Given the description of an element on the screen output the (x, y) to click on. 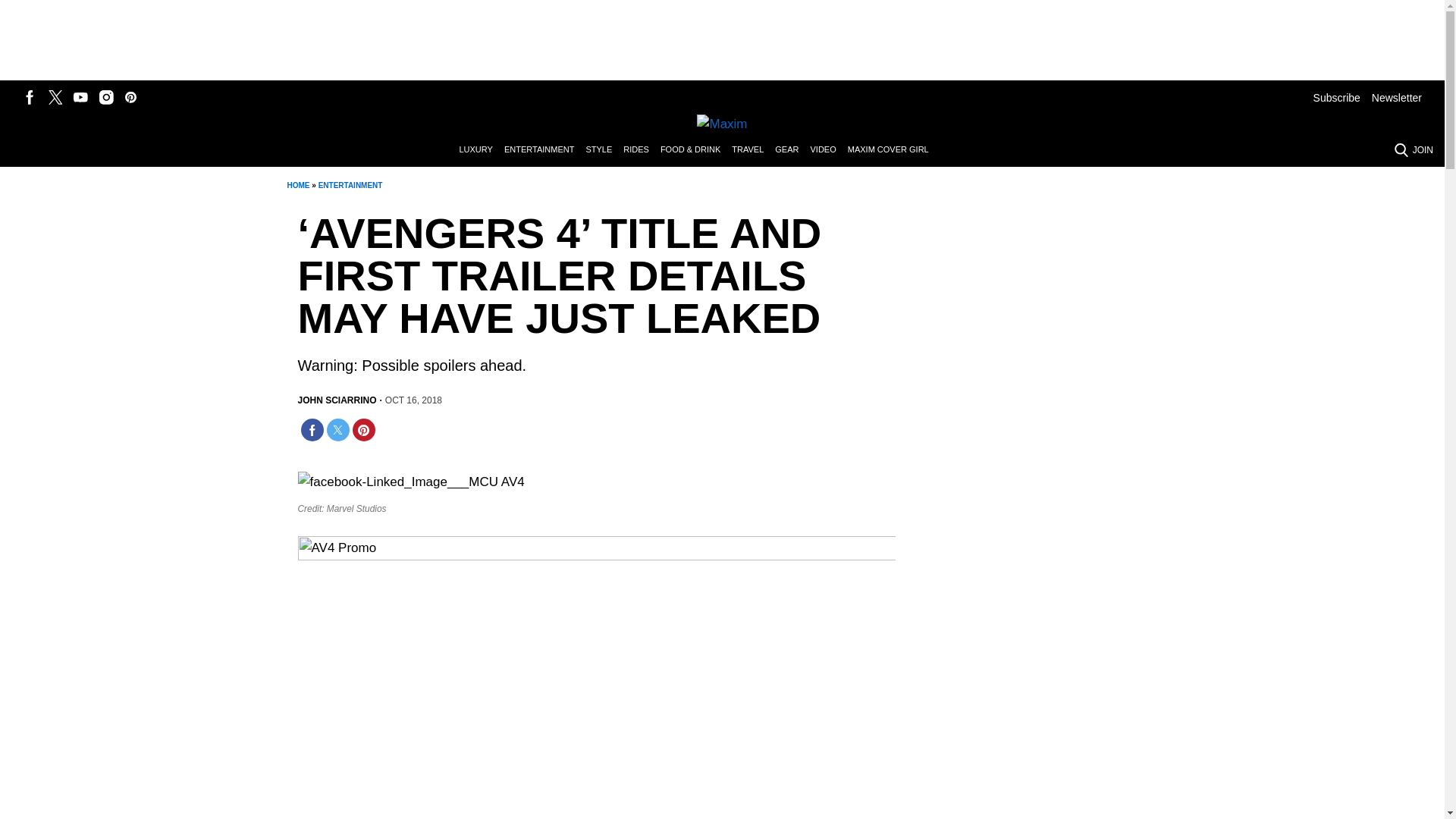
TRAVEL (753, 150)
Share on Facebook (311, 429)
Posts by John Sciarrino (336, 400)
Follow us on Twitter (55, 97)
Follow us on Youtube (80, 97)
Subscribe (1336, 97)
ENTERTAINMENT (350, 184)
VIDEO (828, 150)
STYLE (604, 150)
MAXIM COVER GIRL (893, 150)
JOIN (1422, 150)
Newsletter (1396, 97)
LUXURY (480, 150)
Share on Twitter (337, 429)
RIDES (642, 150)
